Given the description of an element on the screen output the (x, y) to click on. 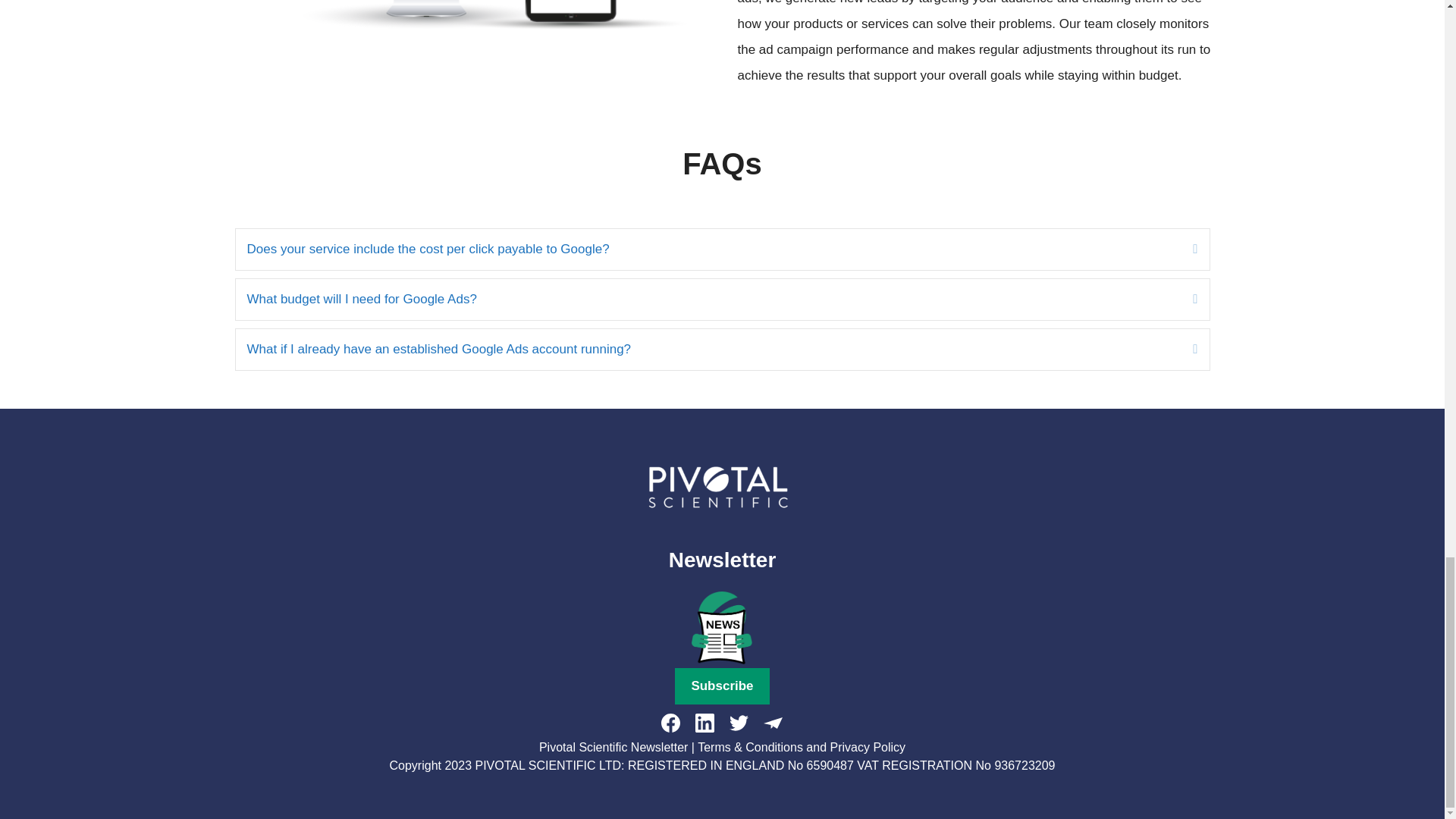
Twitter (738, 722)
Facebook (670, 722)
Minutemailer (772, 722)
LinkedIn (704, 722)
Linked In Home (463, 27)
